Given the description of an element on the screen output the (x, y) to click on. 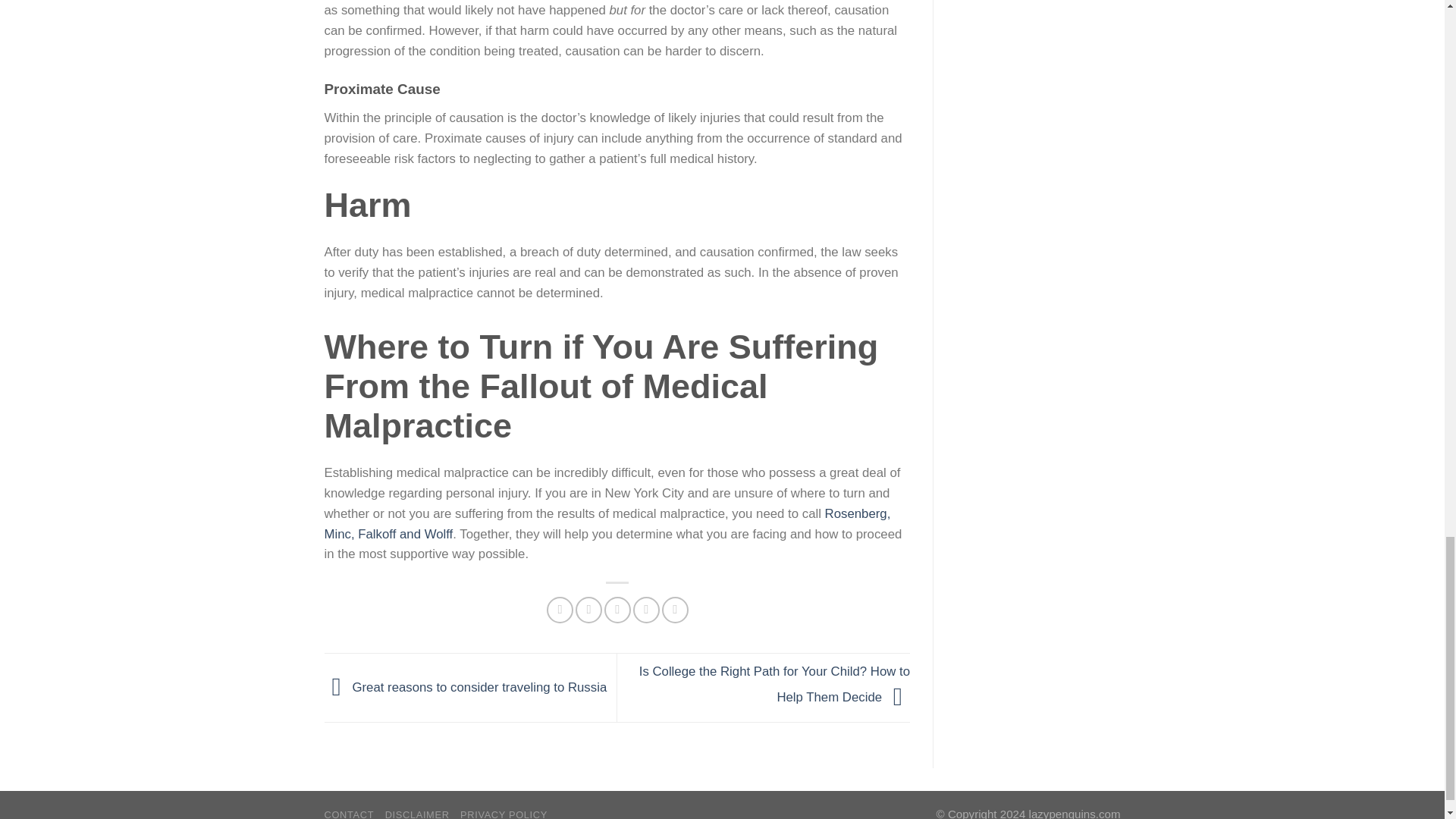
Rosenberg, Minc, Falkoff and Wolff (607, 523)
Great reasons to consider traveling to Russia (465, 686)
Share on Twitter (588, 610)
Share on LinkedIn (675, 610)
Pin on Pinterest (646, 610)
Share on Facebook (560, 610)
Email to a Friend (617, 610)
